Given the description of an element on the screen output the (x, y) to click on. 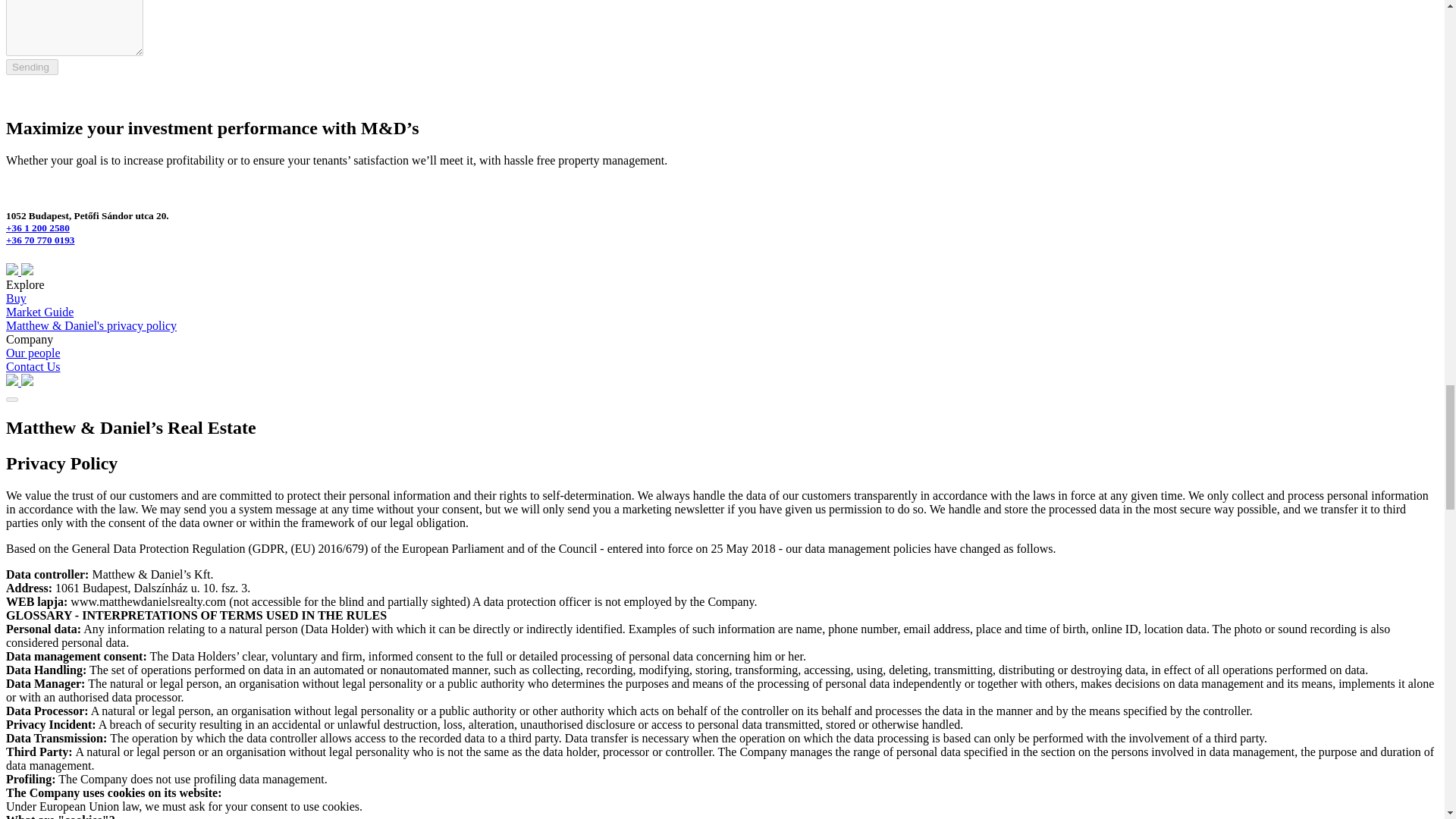
Our people (33, 352)
Market Guide (39, 311)
Contact Us (33, 366)
Sending (31, 66)
Buy (15, 297)
